Given the description of an element on the screen output the (x, y) to click on. 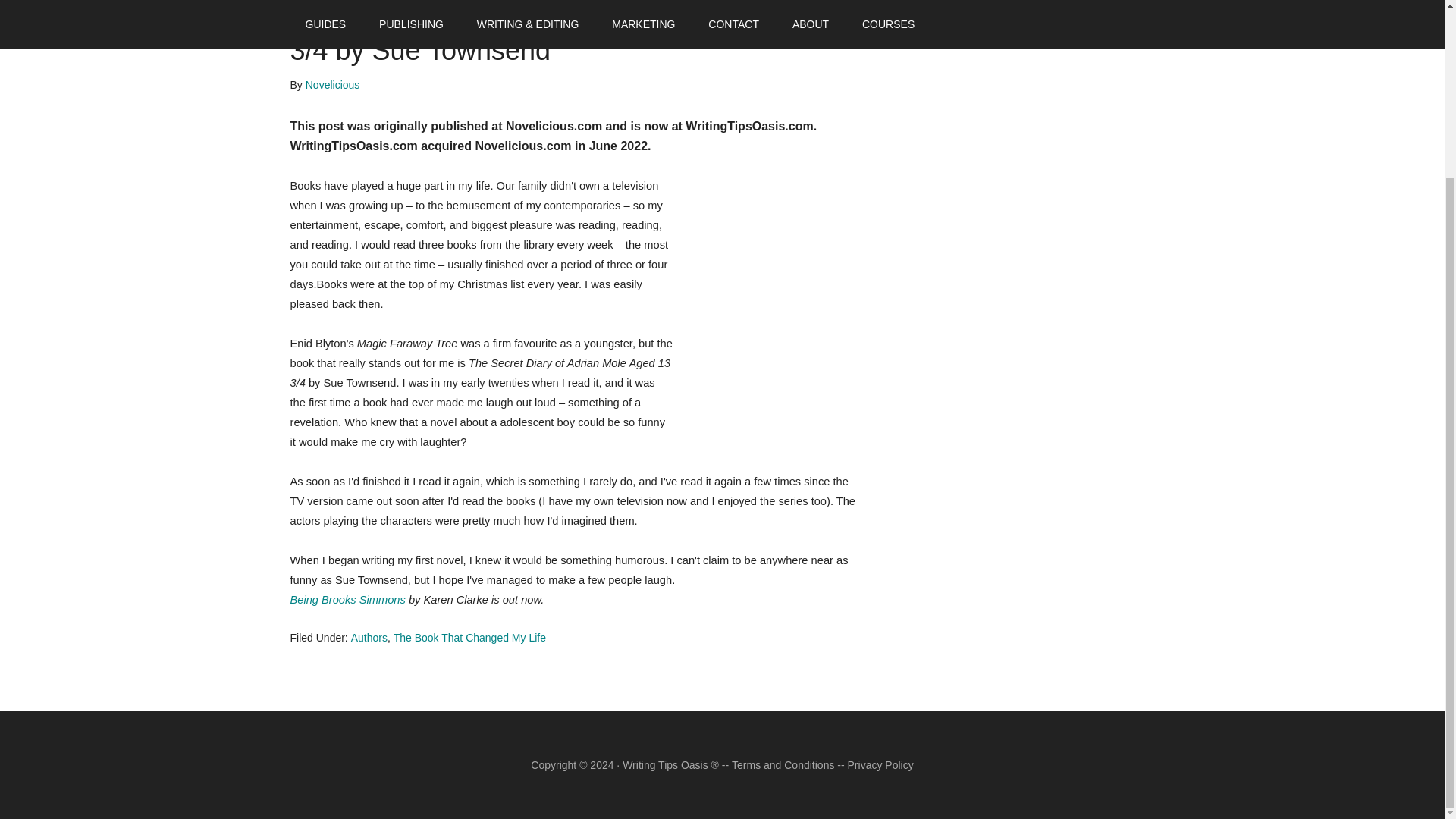
Terms and Conditions (783, 765)
Authors (368, 637)
The Book That Changed My Life (469, 637)
Being Brooks Simmons (346, 599)
Novelicious (332, 84)
Privacy Policy (880, 765)
Karen Clarke (768, 302)
Being Brooks Simmons by Karen Clarke (346, 599)
